Given the description of an element on the screen output the (x, y) to click on. 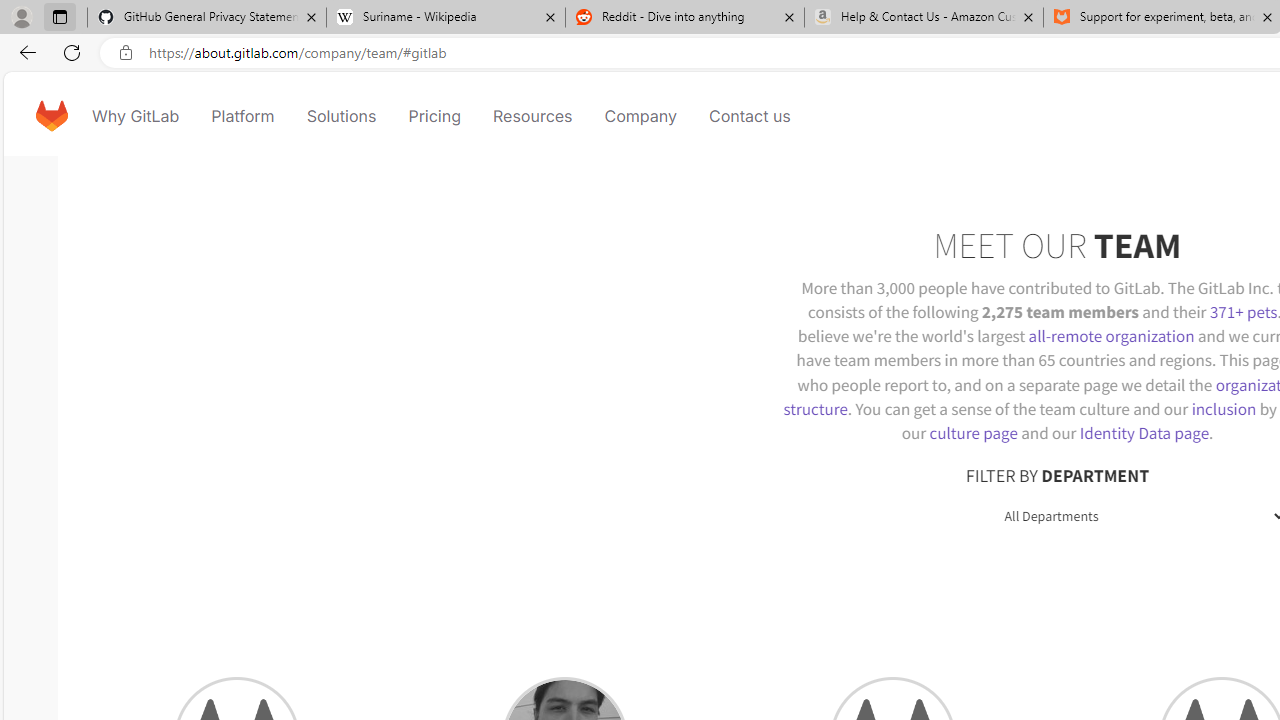
culture page (973, 432)
